Given the description of an element on the screen output the (x, y) to click on. 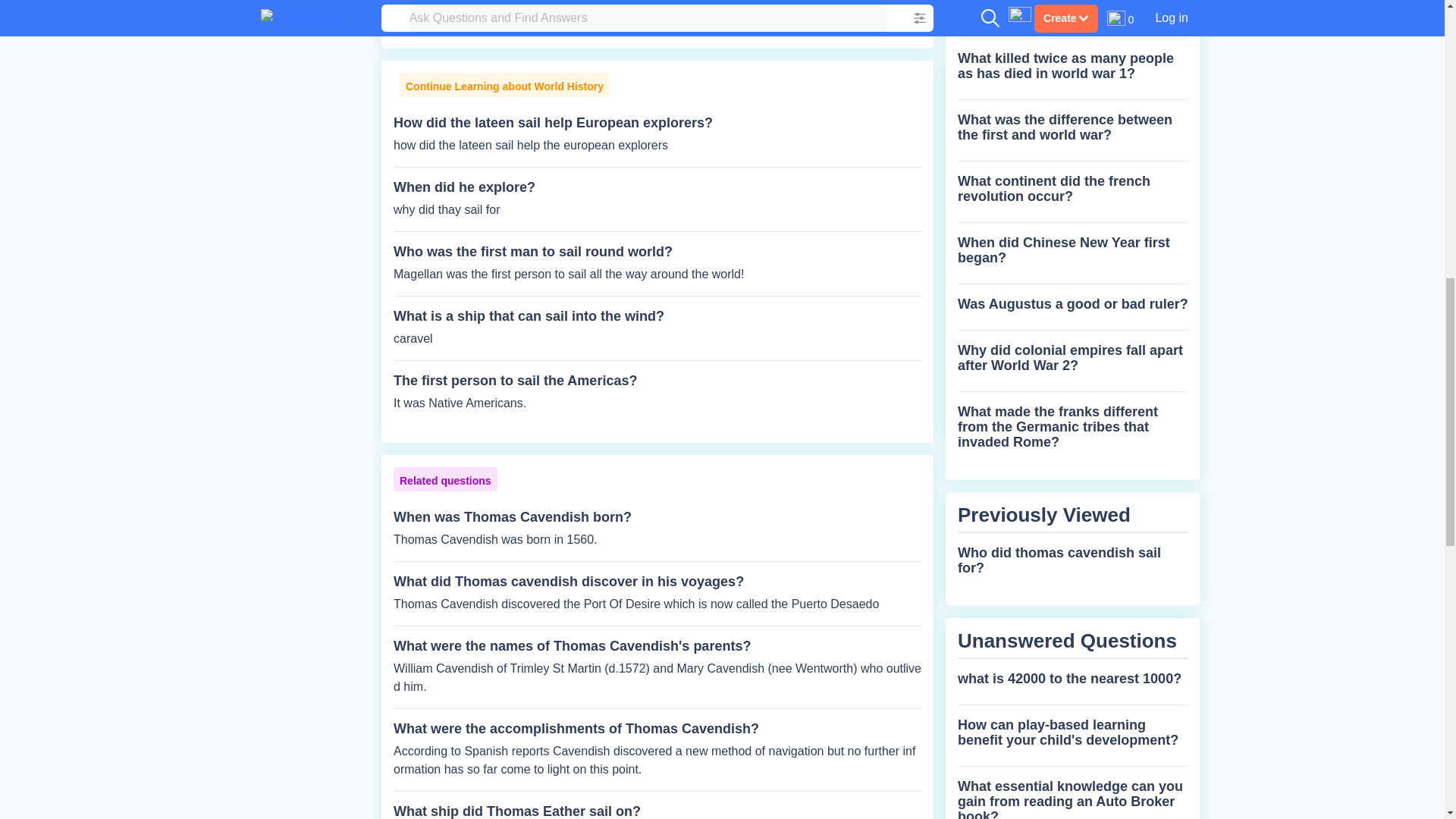
Find more answers (551, 20)
